Given the description of an element on the screen output the (x, y) to click on. 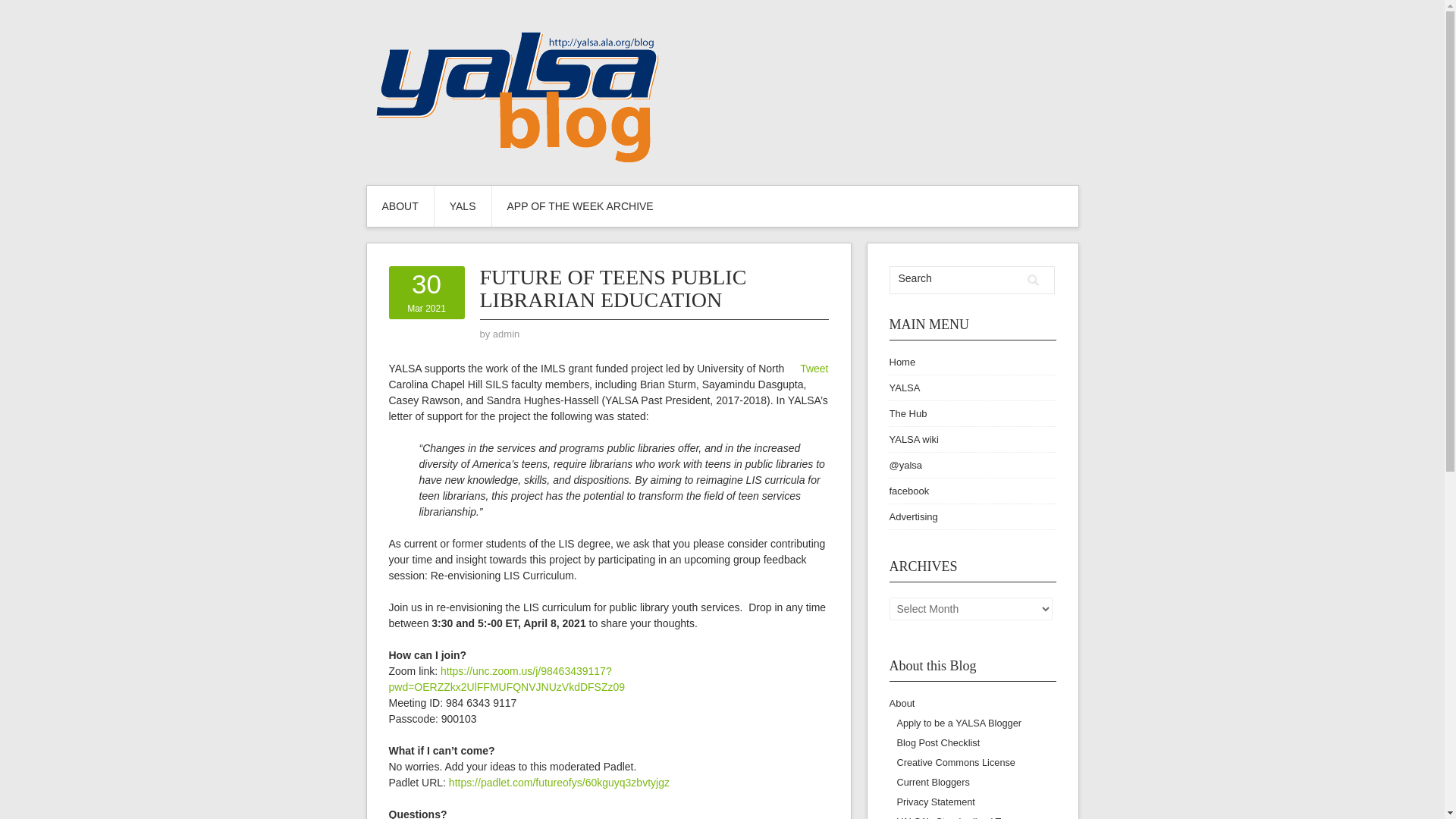
Search (1032, 279)
by admin (426, 291)
YALS (506, 333)
Search (462, 205)
March 30, 2021 9:00 am (954, 278)
admin (426, 291)
Tweet (506, 333)
Search (813, 368)
ABOUT (1032, 279)
